Given the description of an element on the screen output the (x, y) to click on. 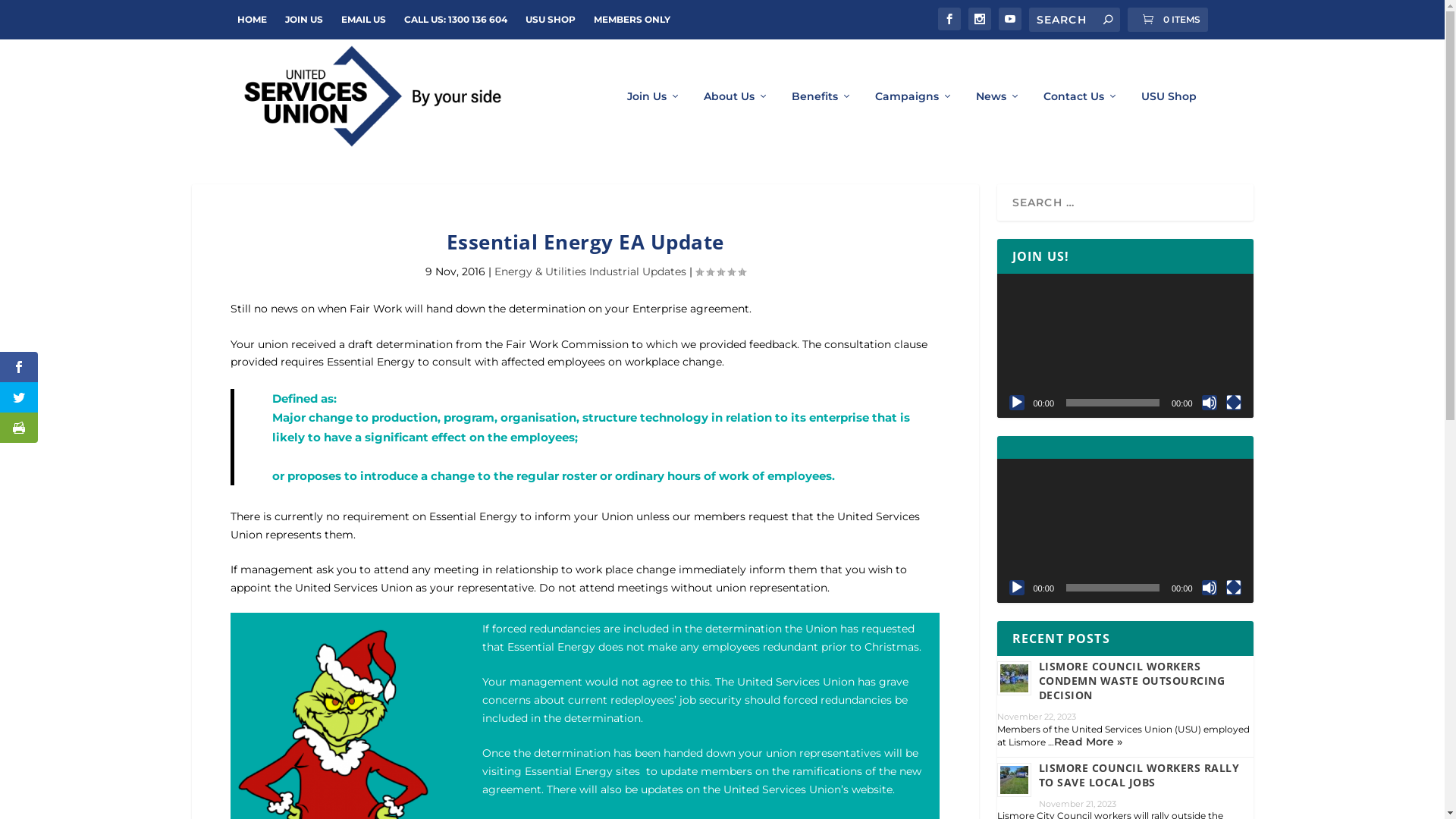
JOIN US Element type: text (304, 19)
Fullscreen Element type: hover (1232, 587)
Mute Element type: hover (1208, 587)
News Element type: text (997, 121)
Rating: 0.00 Element type: hover (719, 272)
MEMBERS ONLY Element type: text (631, 19)
Fullscreen Element type: hover (1232, 402)
About Us Element type: text (735, 121)
USU Shop Element type: text (1167, 121)
USU SHOP Element type: text (549, 19)
Play Element type: hover (1015, 587)
Search for: Element type: hover (1073, 19)
Play Element type: hover (1015, 402)
Energy & Utilities Industrial Updates Element type: text (590, 271)
Join Us Element type: text (653, 121)
LISMORE COUNCIL WORKERS RALLY TO SAVE LOCAL JOBS Element type: text (1138, 774)
Contact Us Element type: text (1080, 121)
EMAIL US Element type: text (363, 19)
CALL US: 1300 136 604 Element type: text (454, 19)
Search Element type: text (31, 14)
LISMORE COUNCIL WORKERS CONDEMN WASTE OUTSOURCING DECISION Element type: text (1131, 680)
Benefits Element type: text (821, 121)
Mute Element type: hover (1208, 402)
Campaigns Element type: text (914, 121)
0 ITEMS Element type: text (1166, 19)
HOME Element type: text (251, 19)
